Given the description of an element on the screen output the (x, y) to click on. 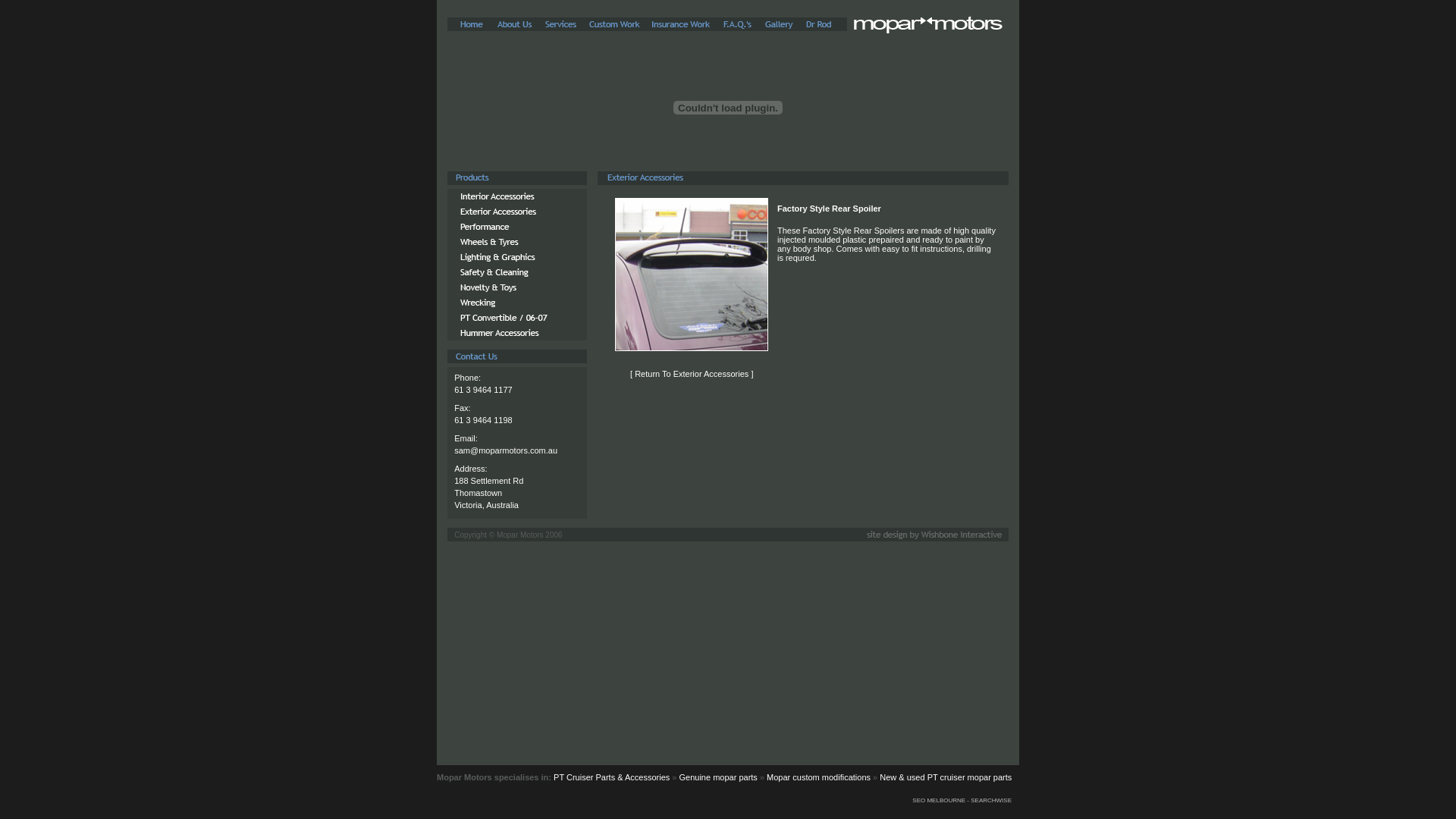
Return To Exterior Accessories Element type: text (691, 373)
SEO MELBOURNE - SEARCHWISE Element type: text (965, 800)
PT Cruiser Parts & Accessories Element type: text (611, 776)
New & used PT cruiser mopar parts Element type: text (945, 776)
Genuine mopar parts Element type: text (718, 776)
Mopar custom modifications Element type: text (818, 776)
sam@moparmotors.com.au Element type: text (505, 450)
